Given the description of an element on the screen output the (x, y) to click on. 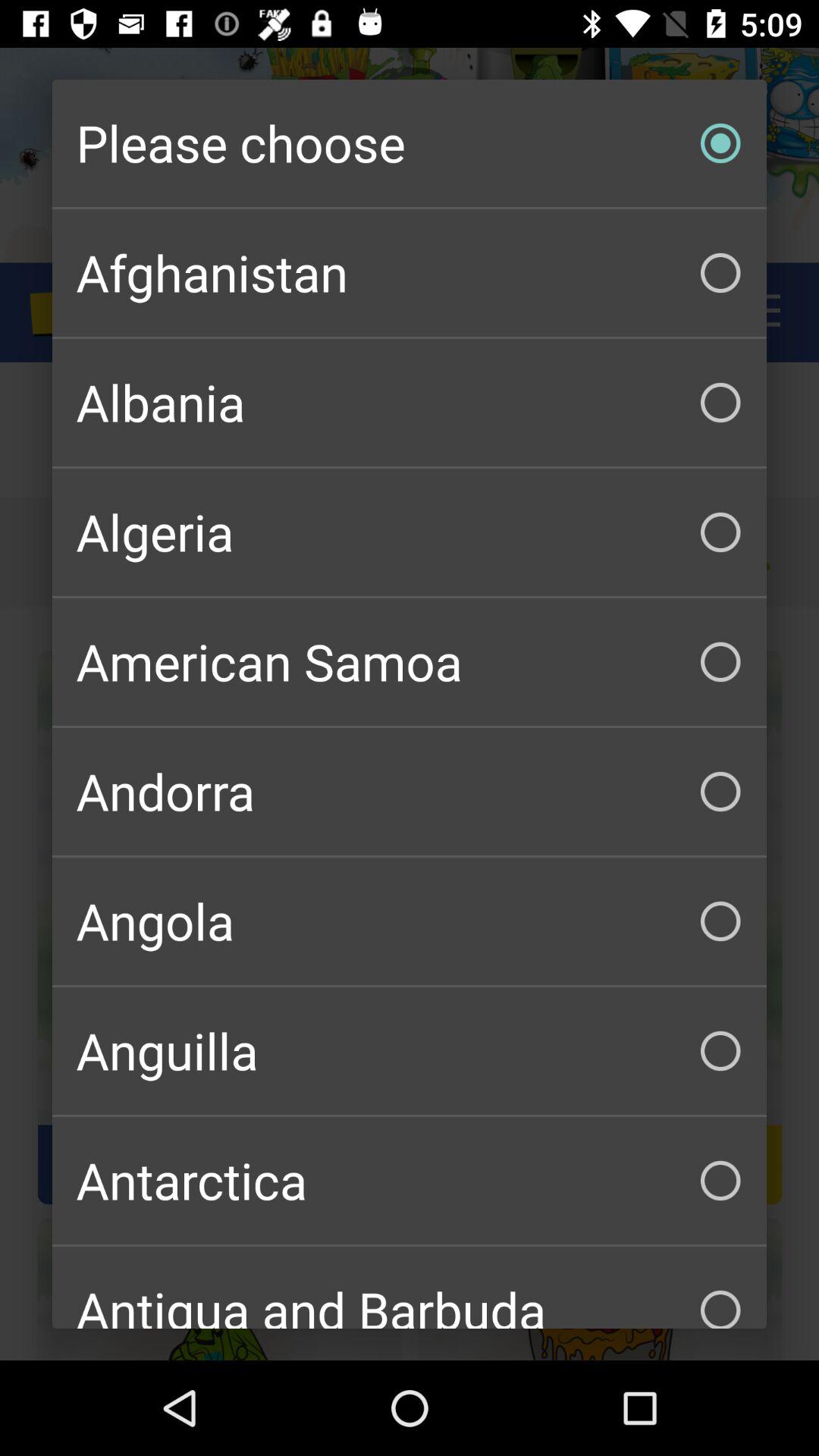
tap antigua and barbuda item (409, 1287)
